Given the description of an element on the screen output the (x, y) to click on. 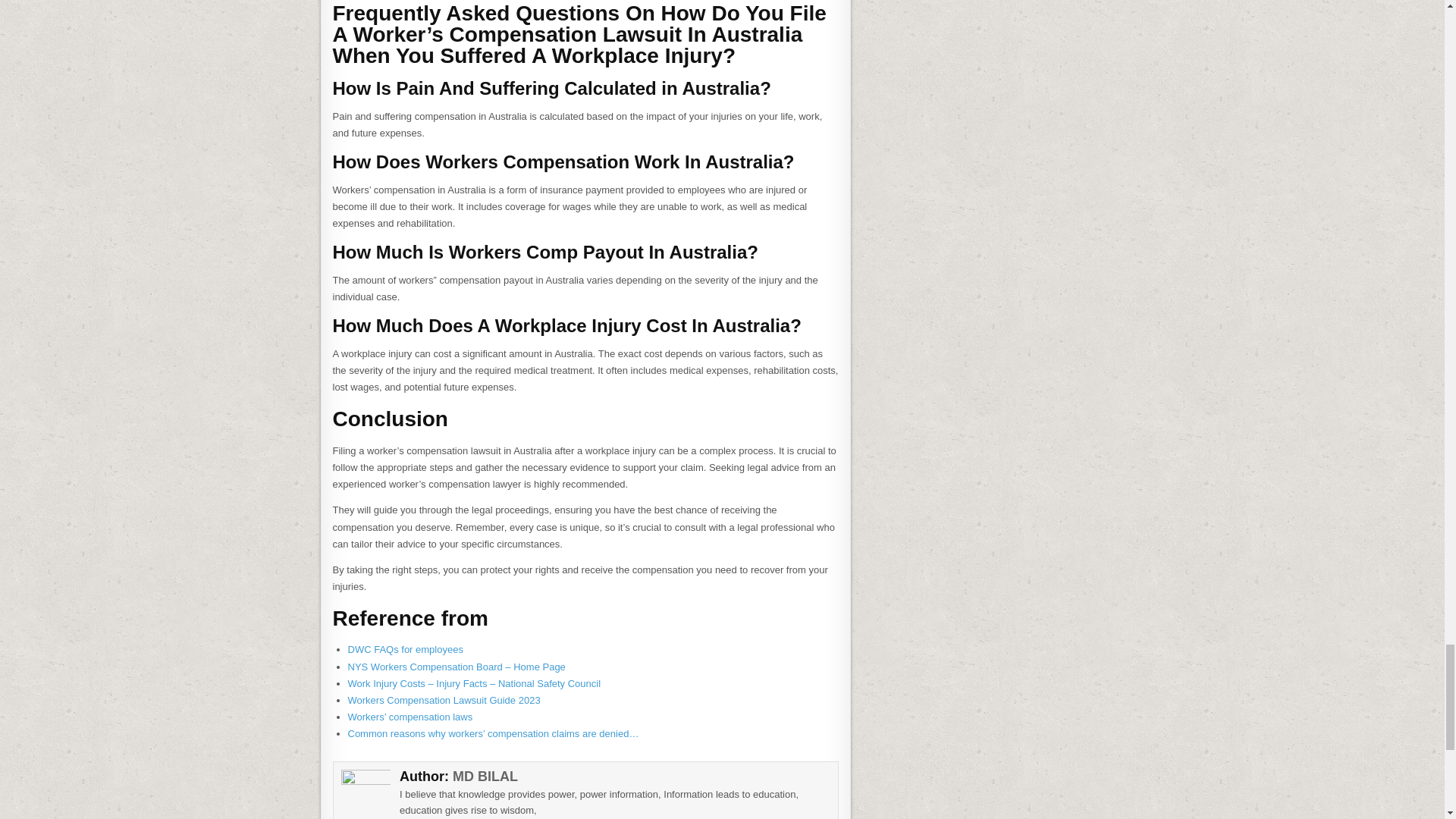
MD BILAL (485, 776)
DWC FAQs for employees (405, 649)
Workers Compensation Lawsuit Guide 2023 (443, 699)
